Given the description of an element on the screen output the (x, y) to click on. 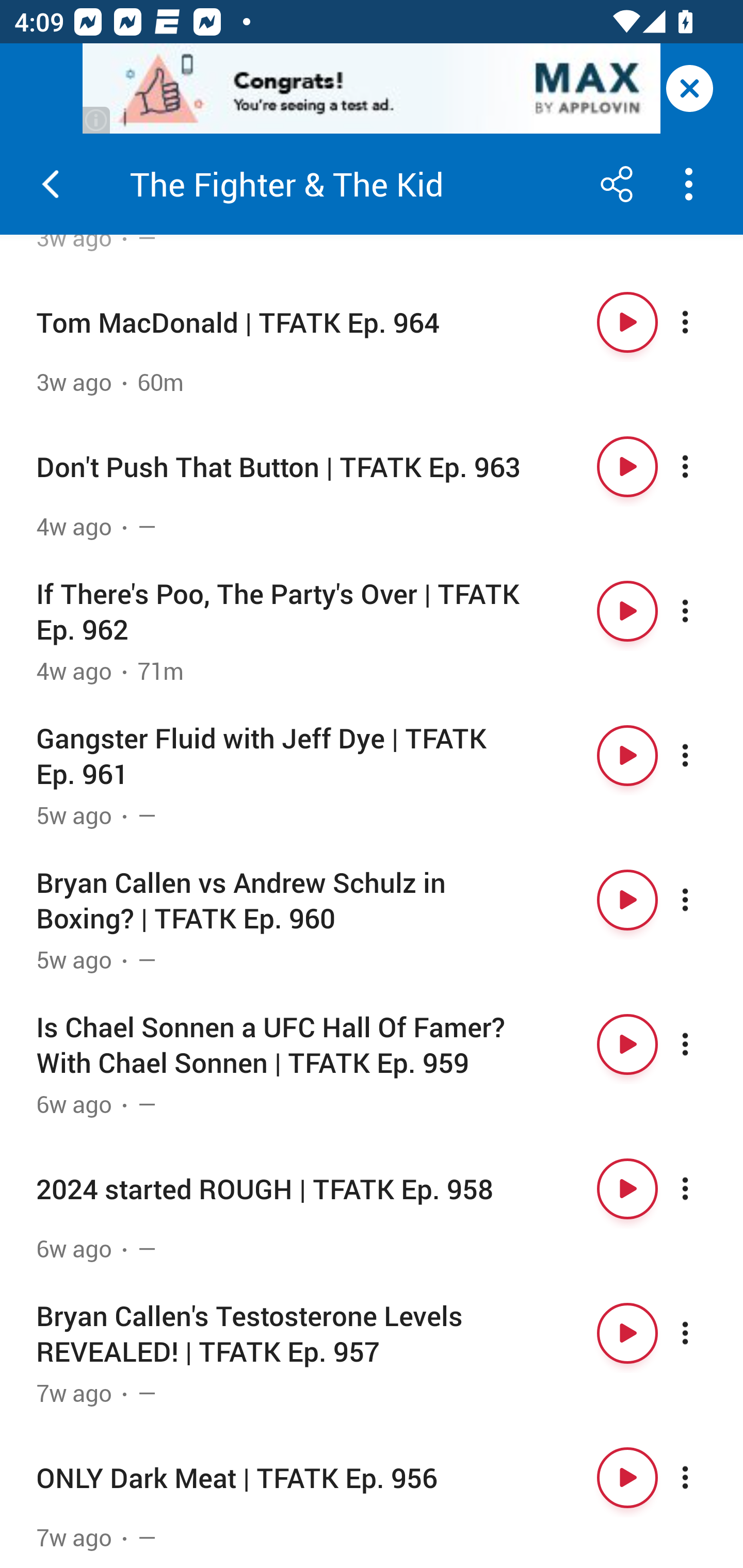
app-monetization (371, 88)
(i) (96, 119)
Back (50, 184)
Play button (627, 322)
More options (703, 322)
Play button (627, 466)
More options (703, 466)
Play button (627, 610)
More options (703, 610)
Play button (627, 755)
More options (703, 755)
Play button (627, 899)
More options (703, 899)
Play button (627, 1044)
More options (703, 1044)
Play button (627, 1189)
More options (703, 1189)
Play button (627, 1333)
More options (703, 1333)
Play button (627, 1477)
More options (703, 1477)
